Given the description of an element on the screen output the (x, y) to click on. 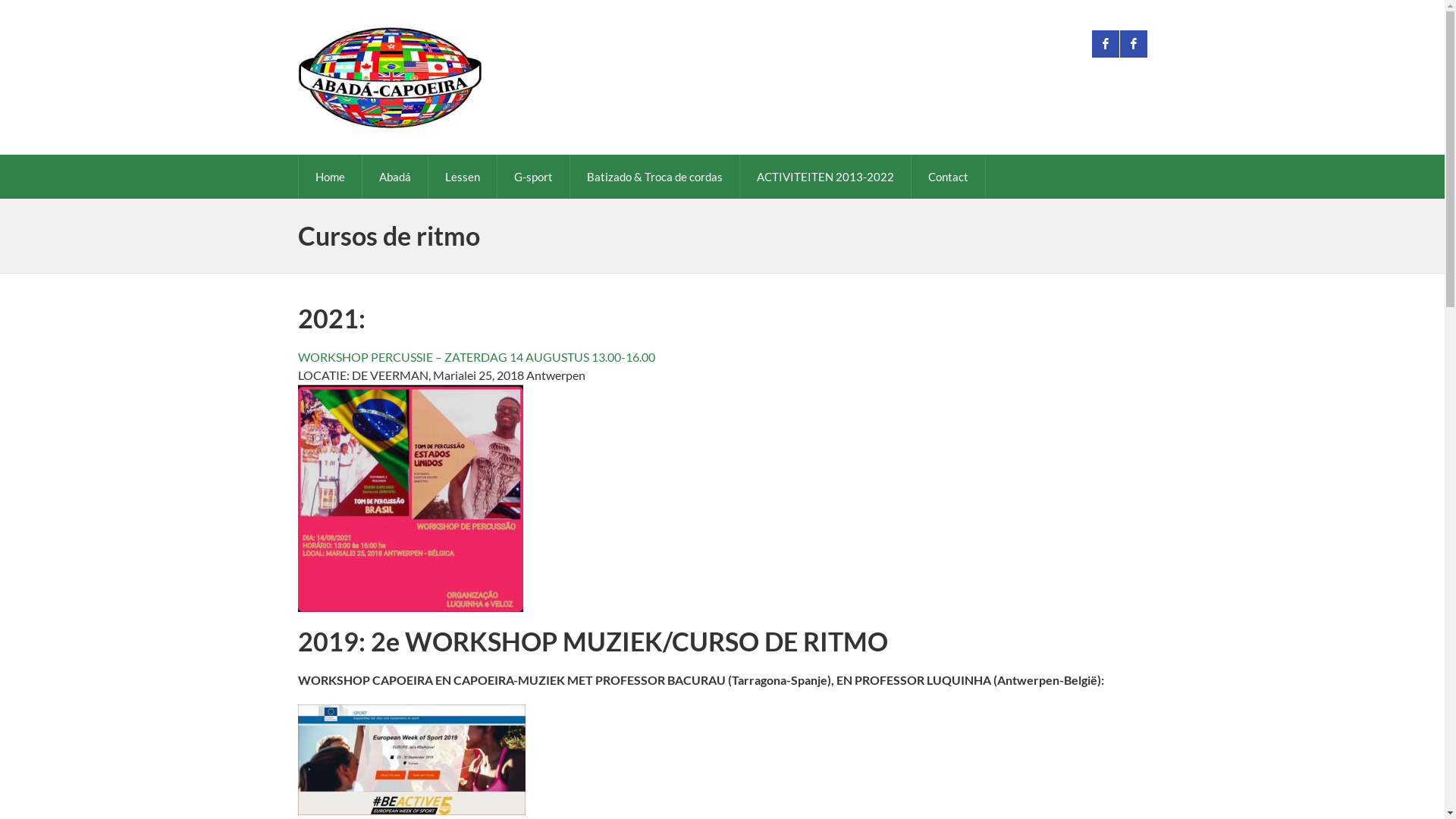
ACTIVITEITEN 2013-2022 Element type: text (825, 176)
Batizado & Troca de cordas Element type: text (654, 176)
Home Element type: text (329, 176)
G-sport Element type: text (533, 176)
Contact Element type: text (948, 176)
Lessen Element type: text (461, 176)
